Given the description of an element on the screen output the (x, y) to click on. 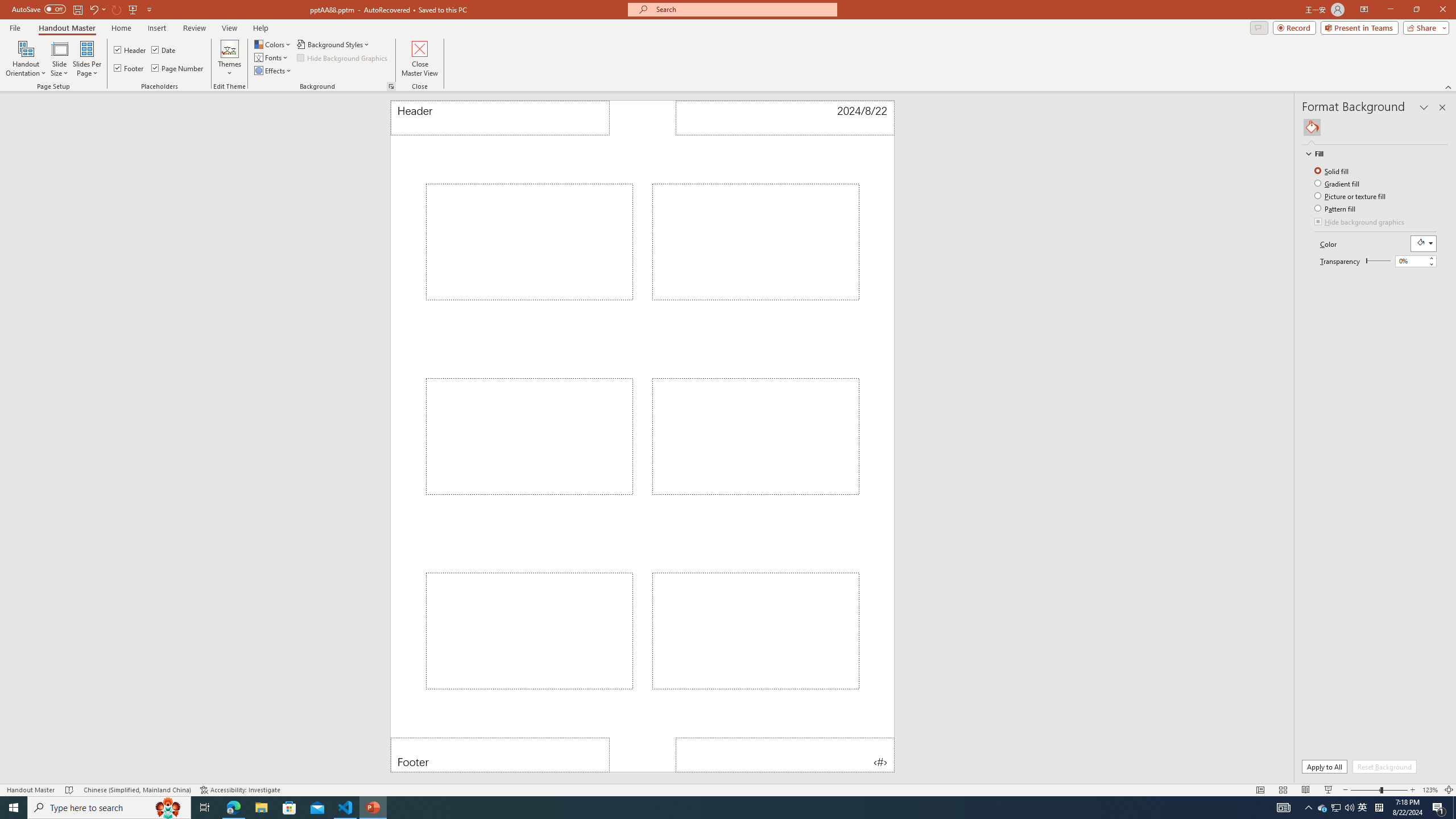
Fonts (271, 56)
Solid fill (1332, 170)
Task Pane Options (1423, 107)
Fill (1311, 126)
Page Number (177, 67)
Slide Size (59, 58)
